Given the description of an element on the screen output the (x, y) to click on. 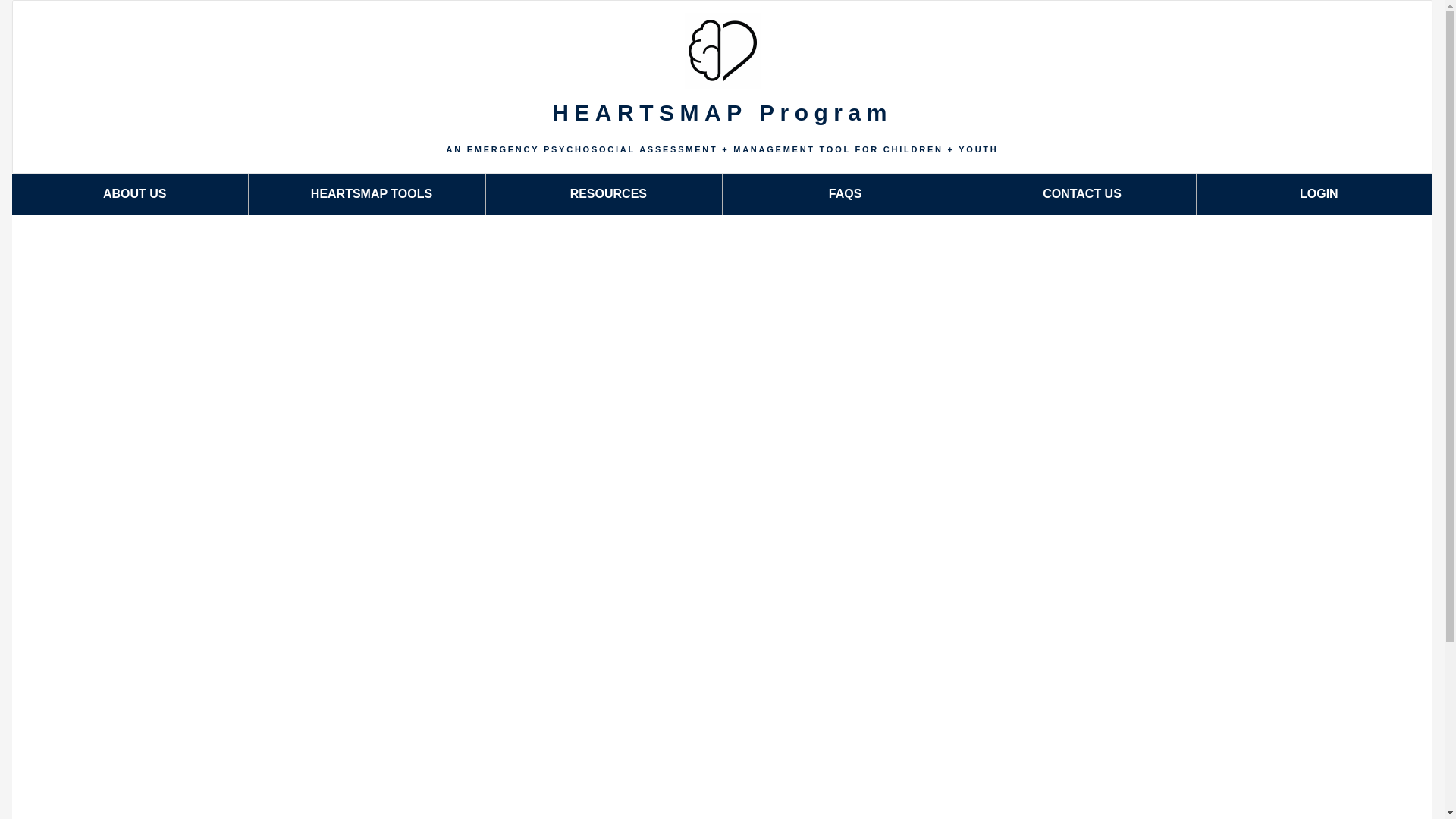
ABOUT US Element type: text (129, 193)
LOGIN Element type: text (1314, 193)
FAQS Element type: text (840, 193)
CONTACT US Element type: text (1077, 193)
RESOURCES Element type: text (603, 193)
HEARTSMAP TOOLS Element type: text (366, 193)
